Given the description of an element on the screen output the (x, y) to click on. 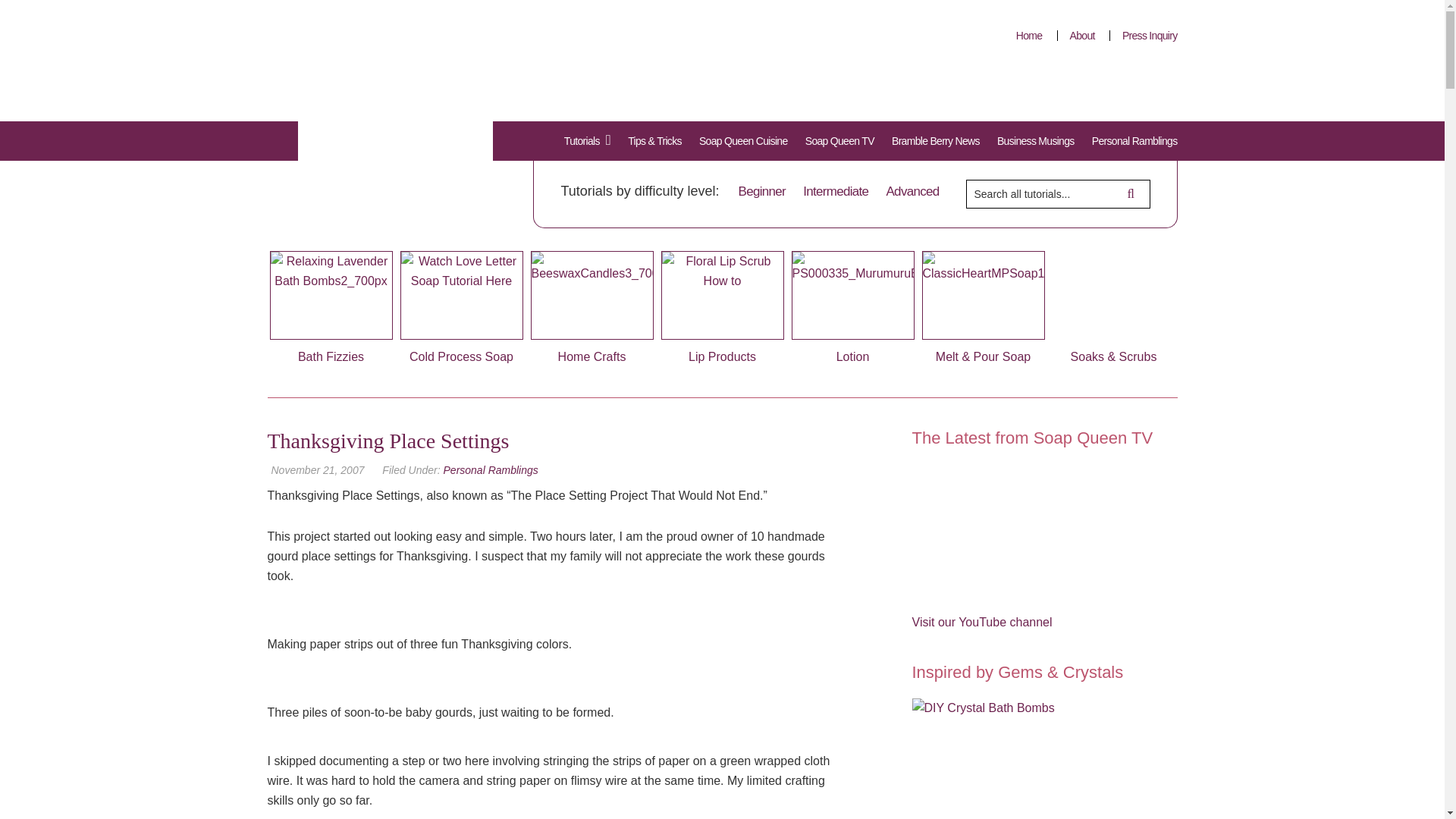
Tutorials (590, 140)
Soap Queen Cuisine (742, 141)
Personal Ramblings (1130, 141)
Home Crafts (592, 306)
DIY Crystal Bath Bombs (982, 758)
Home (1029, 35)
Bramble Berry News (935, 141)
Business Musings (1035, 141)
Cold Process Soap (461, 306)
Personal Ramblings (491, 469)
Soap Queen (383, 125)
Intermediate (835, 191)
Lotion (853, 306)
Visit our YouTube channel (981, 621)
Bath Fizzies (331, 306)
